Given the description of an element on the screen output the (x, y) to click on. 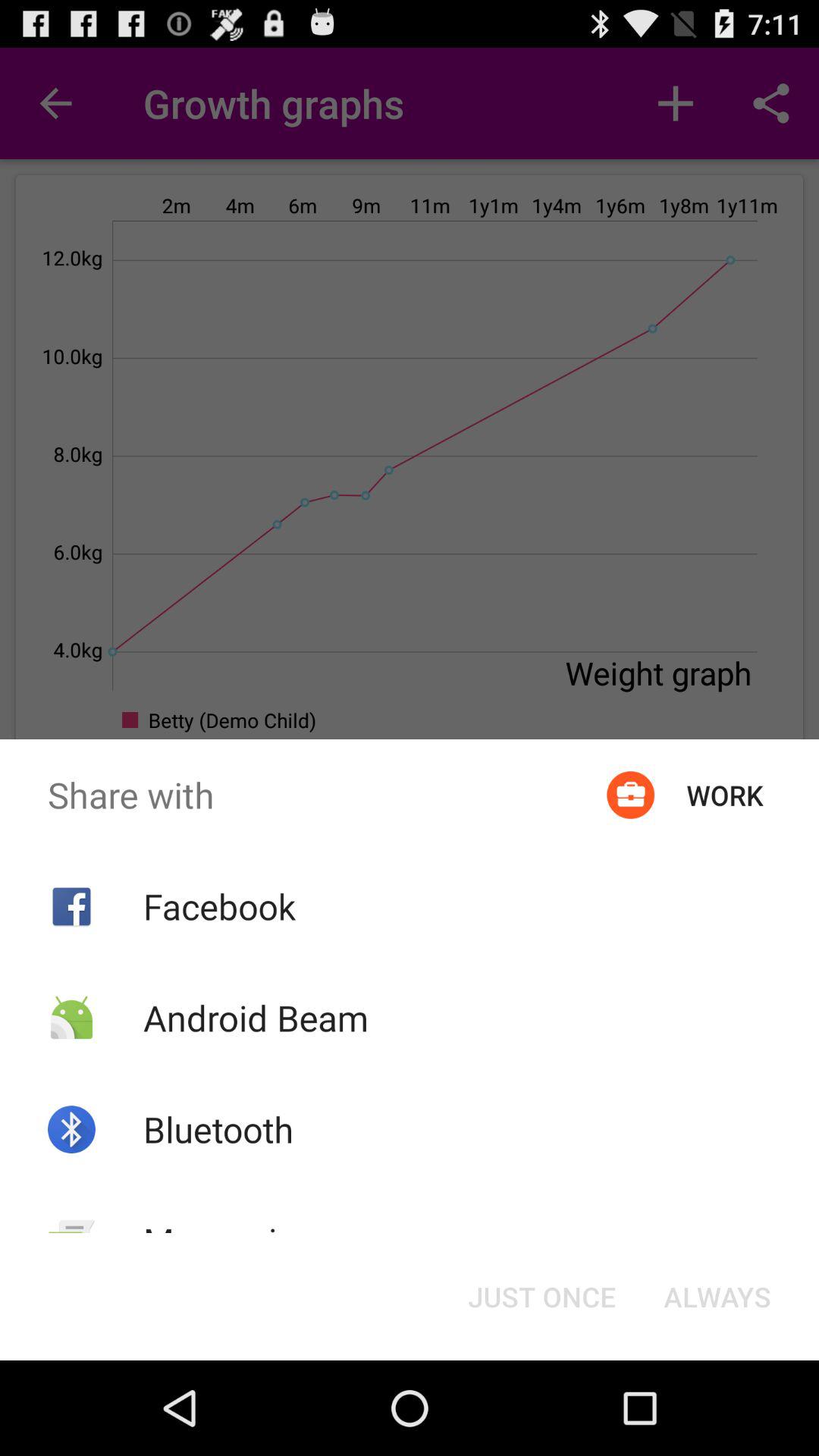
select icon below the share with icon (219, 906)
